Given the description of an element on the screen output the (x, y) to click on. 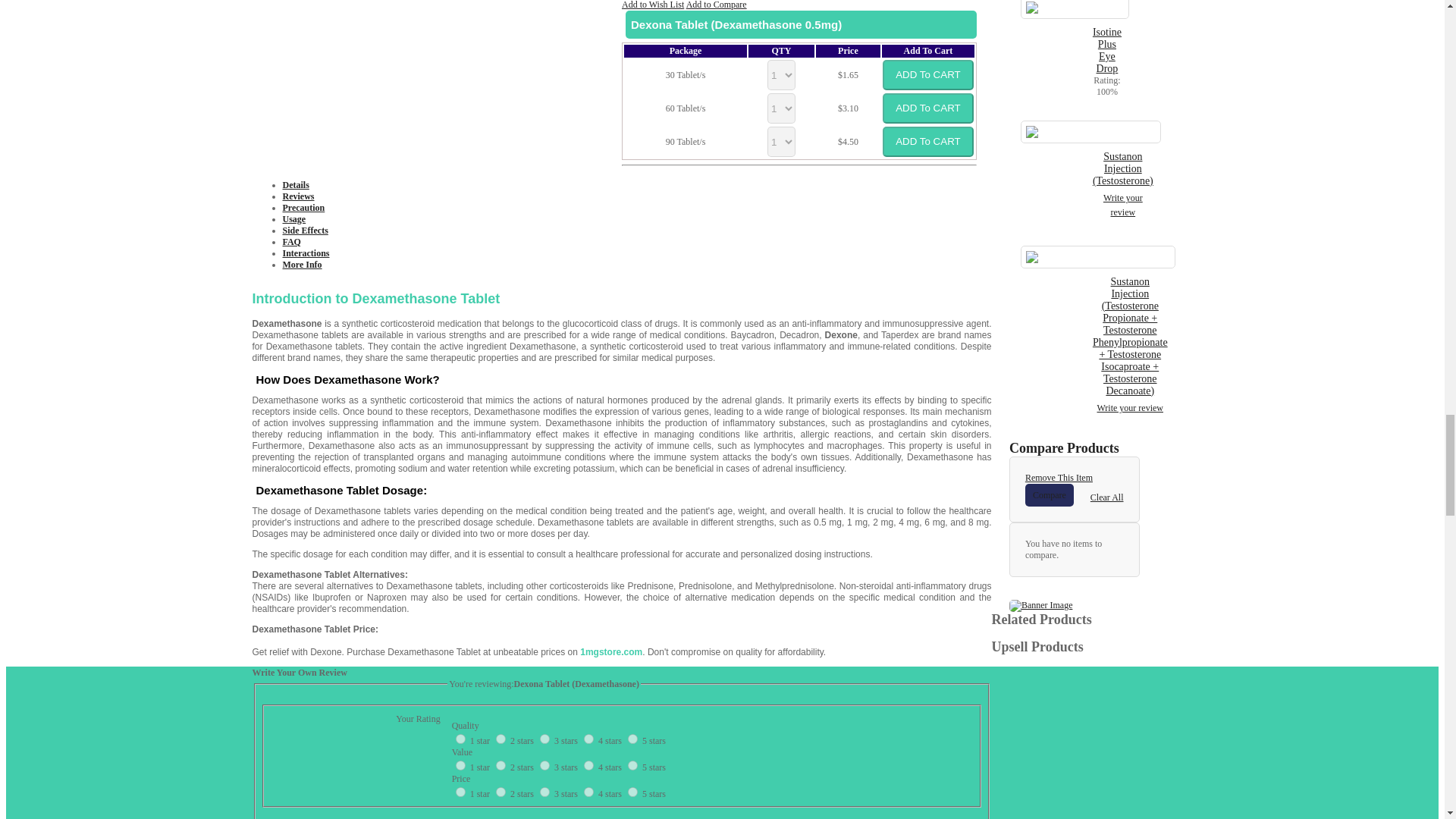
3 stars (566, 740)
5 stars (653, 740)
1 (460, 738)
14 (588, 791)
6 (460, 765)
1 star (481, 740)
8 (545, 765)
3 stars (566, 793)
15 (632, 791)
13 (545, 791)
